Given the description of an element on the screen output the (x, y) to click on. 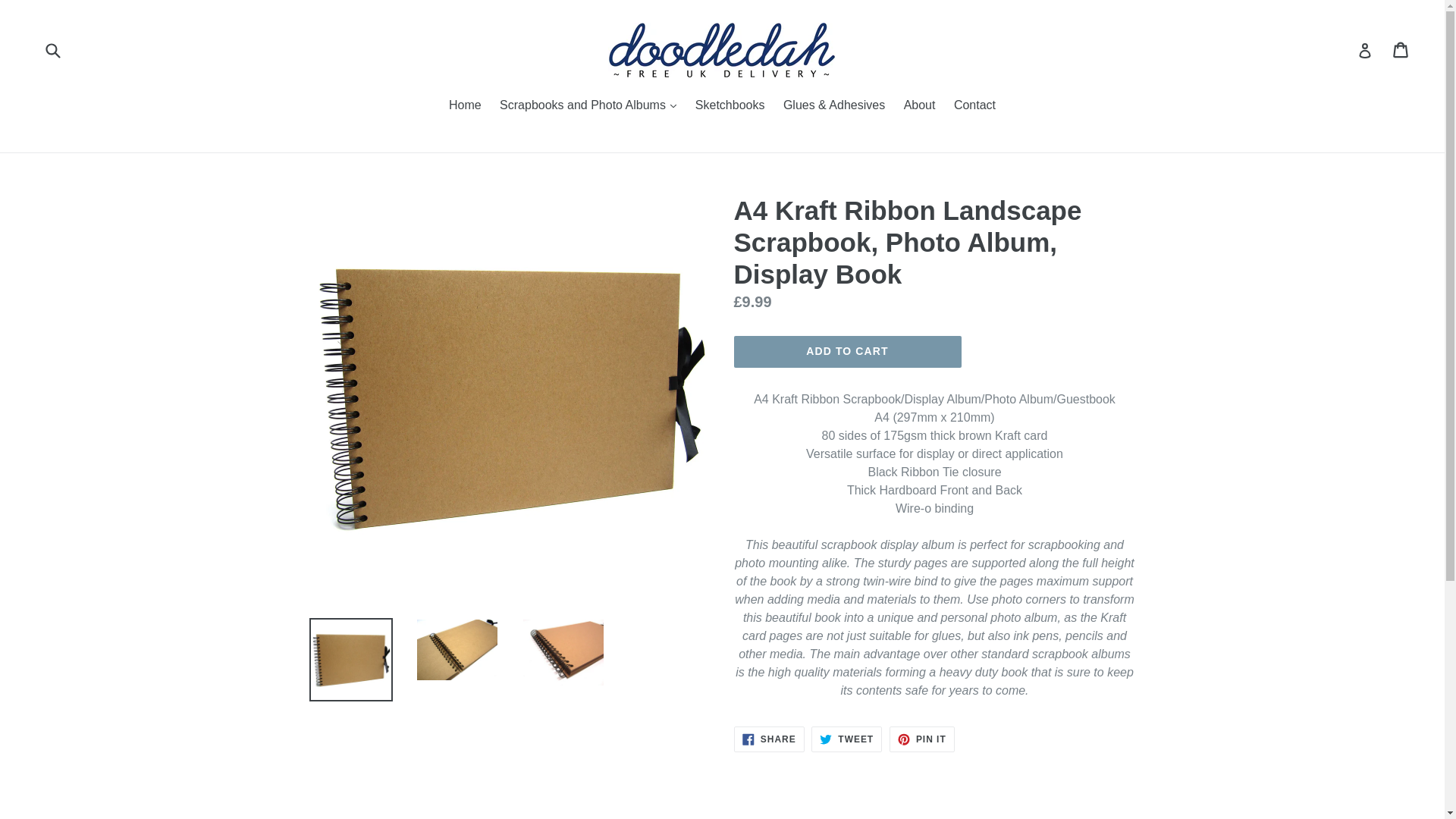
Submit (846, 739)
Share on Facebook (922, 739)
Contact (52, 49)
Pin on Pinterest (769, 739)
About (974, 106)
Home (922, 739)
Tweet on Twitter (919, 106)
Sketchbooks (465, 106)
Log in (846, 739)
ADD TO CART (769, 739)
